Given the description of an element on the screen output the (x, y) to click on. 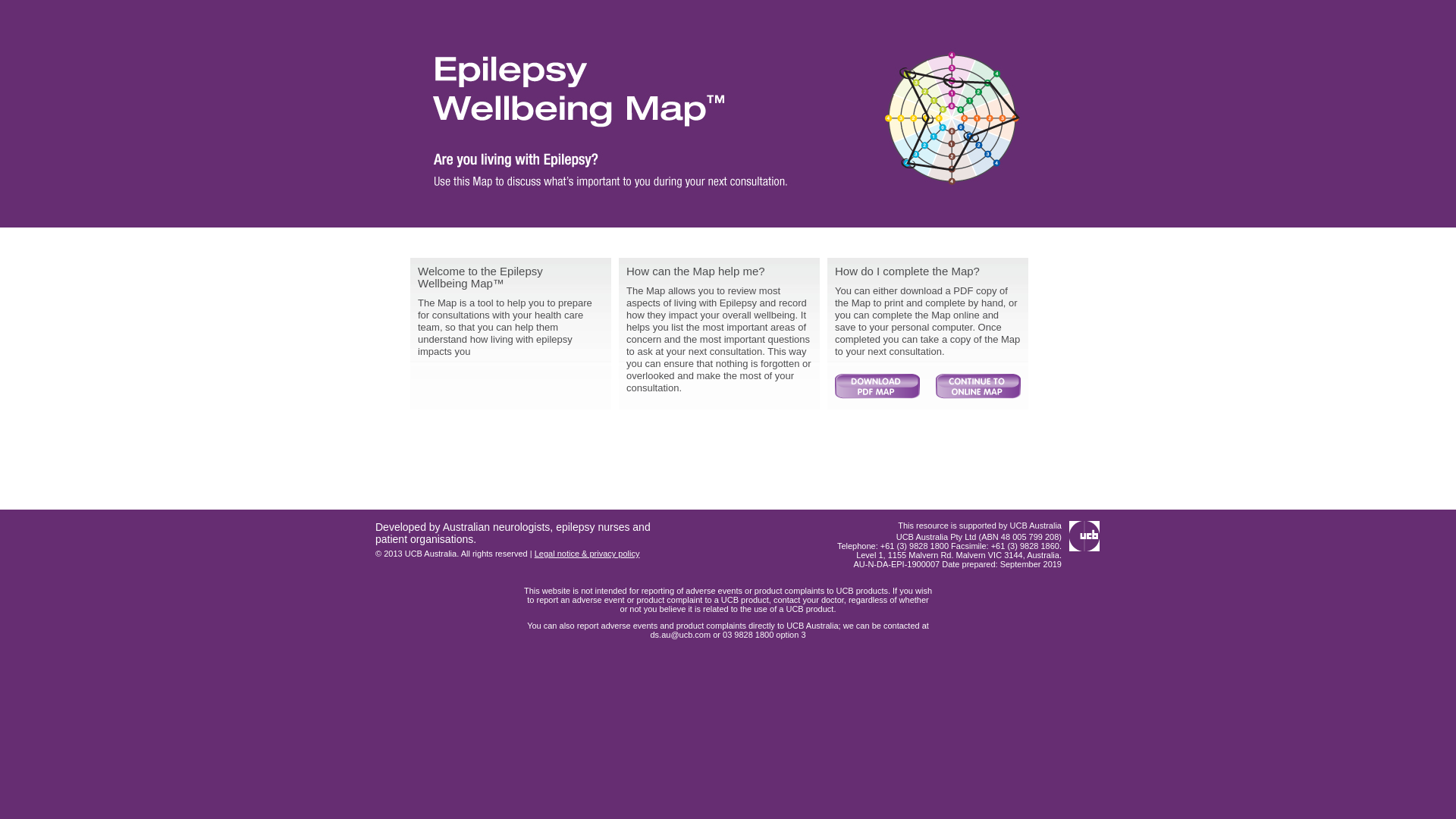
Legal notice & privacy policy Element type: text (587, 554)
Download PDF Map Element type: text (876, 385)
Continue Element type: text (977, 385)
